Given the description of an element on the screen output the (x, y) to click on. 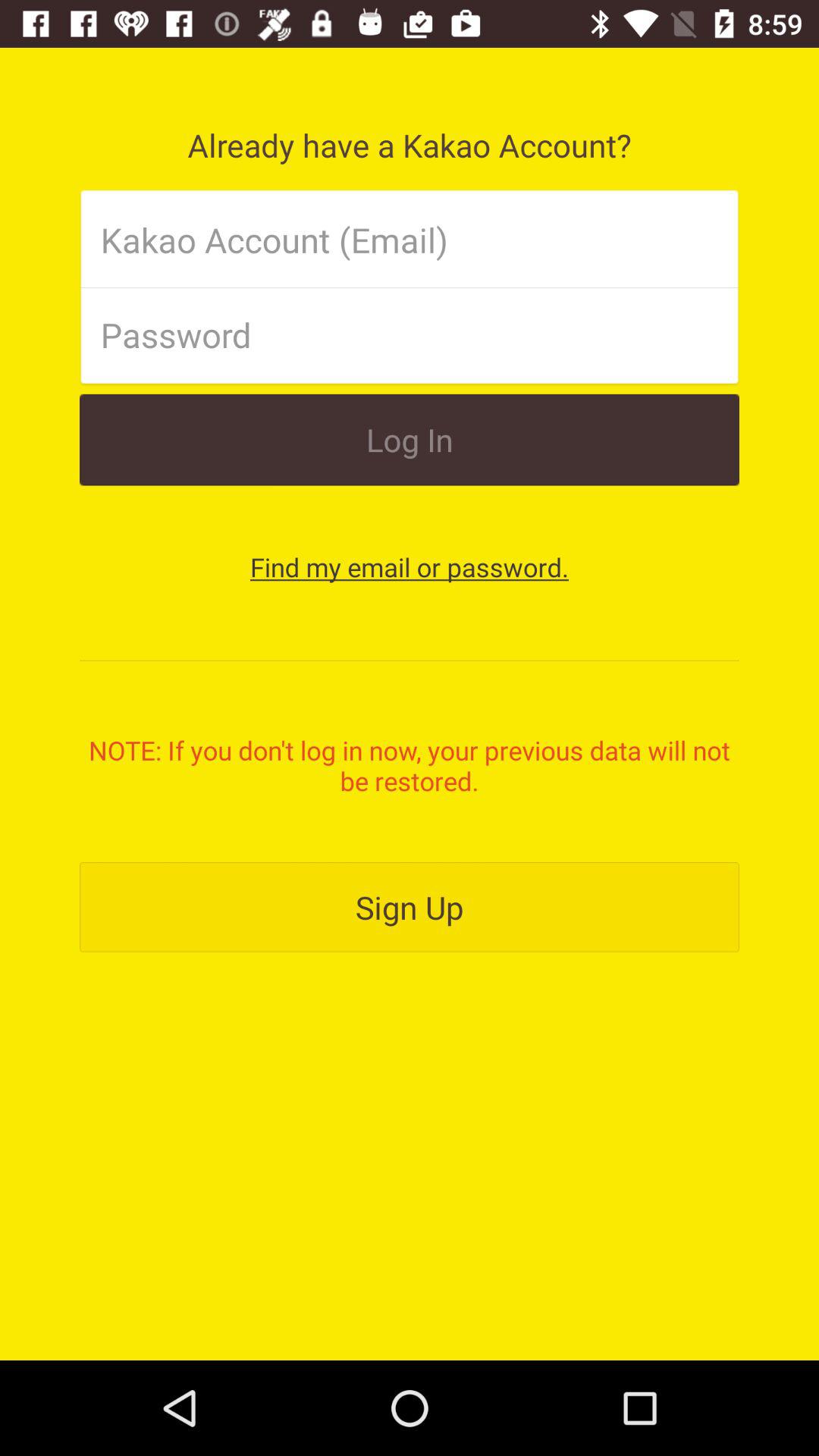
select password (384, 334)
